Given the description of an element on the screen output the (x, y) to click on. 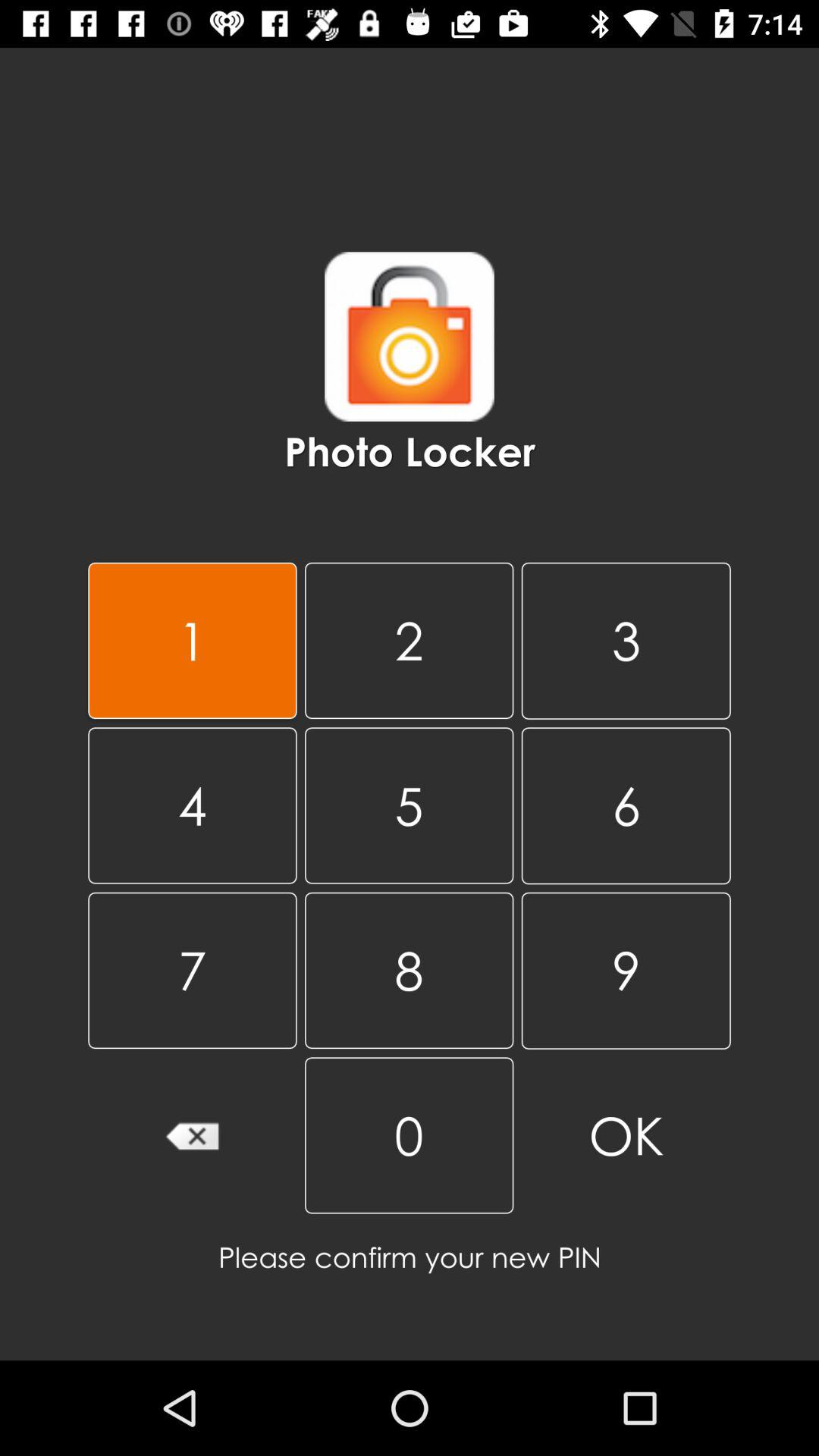
turn on the icon to the left of 3 (408, 805)
